Given the description of an element on the screen output the (x, y) to click on. 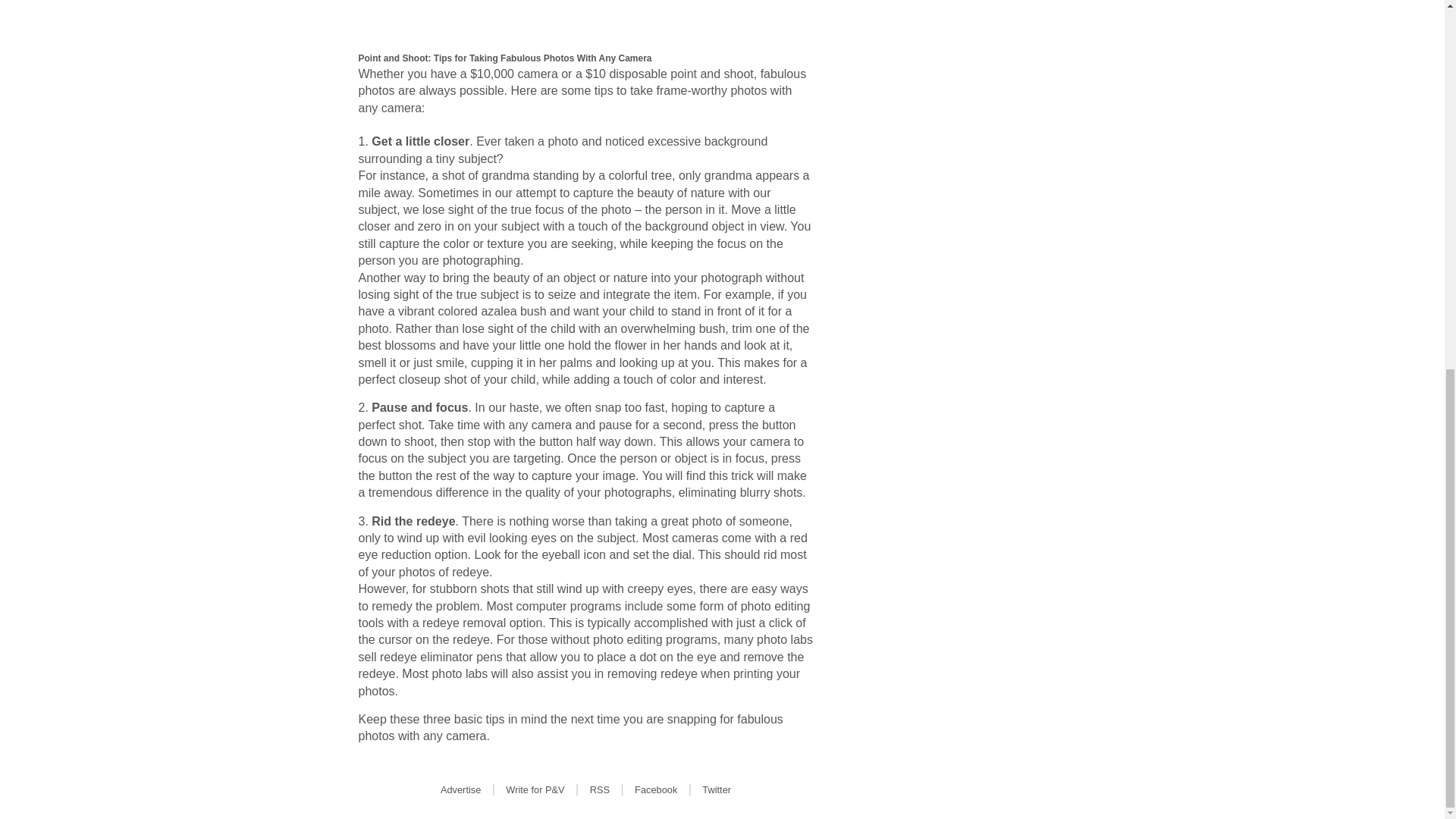
Facebook (655, 789)
RSS (599, 789)
Advertisement (585, 19)
Advertise (460, 789)
Twitter (715, 789)
